Given the description of an element on the screen output the (x, y) to click on. 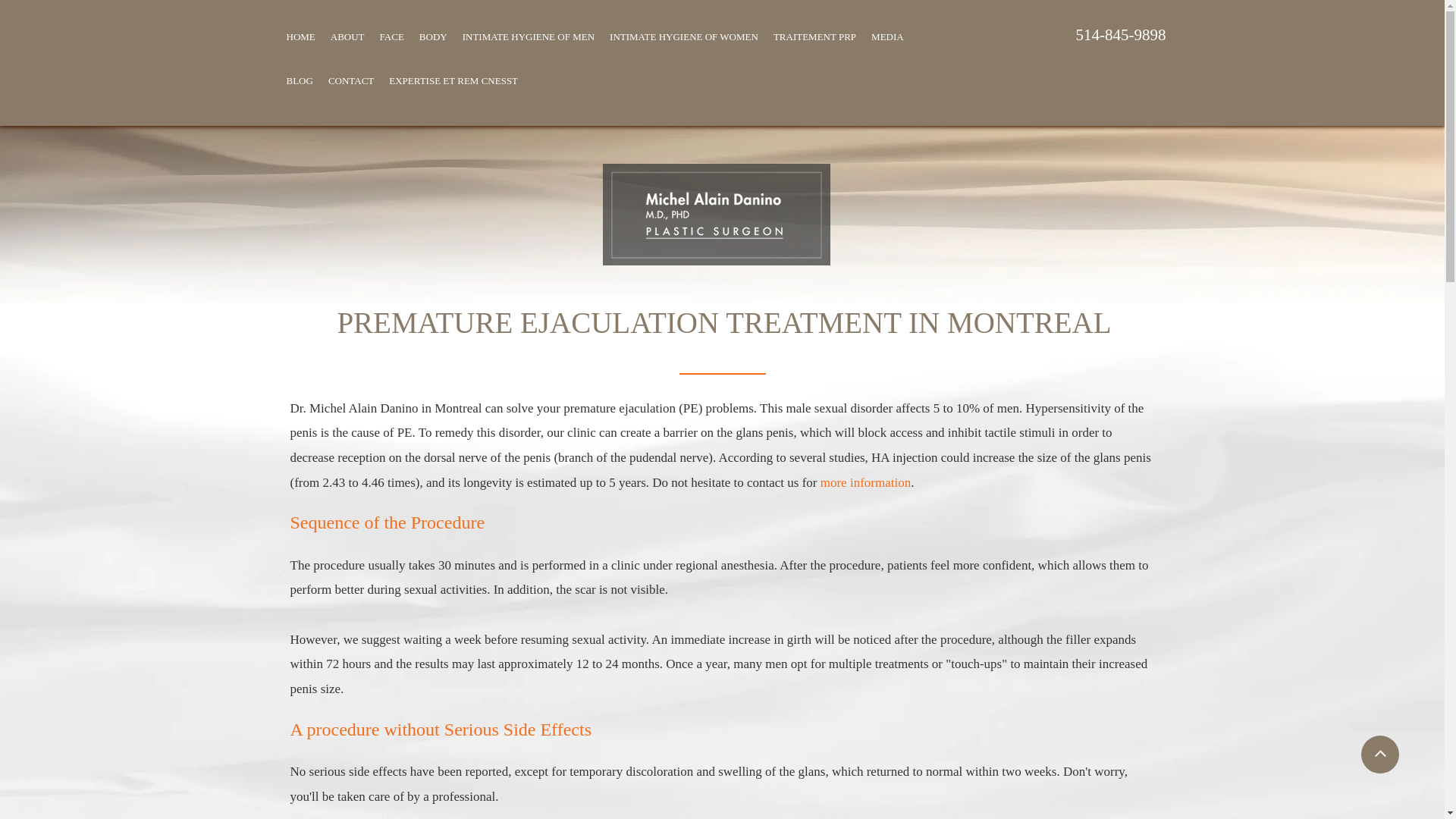
FACE (392, 36)
EXPERTISE ET REM CNESST (453, 80)
HOME (301, 36)
more information (866, 482)
CONTACT (350, 80)
TRAITEMENT PRP (814, 36)
514-845-9898 (1120, 34)
ABOUT (347, 36)
BODY (433, 36)
INTIMATE HYGIENE OF WOMEN (683, 36)
